Given the description of an element on the screen output the (x, y) to click on. 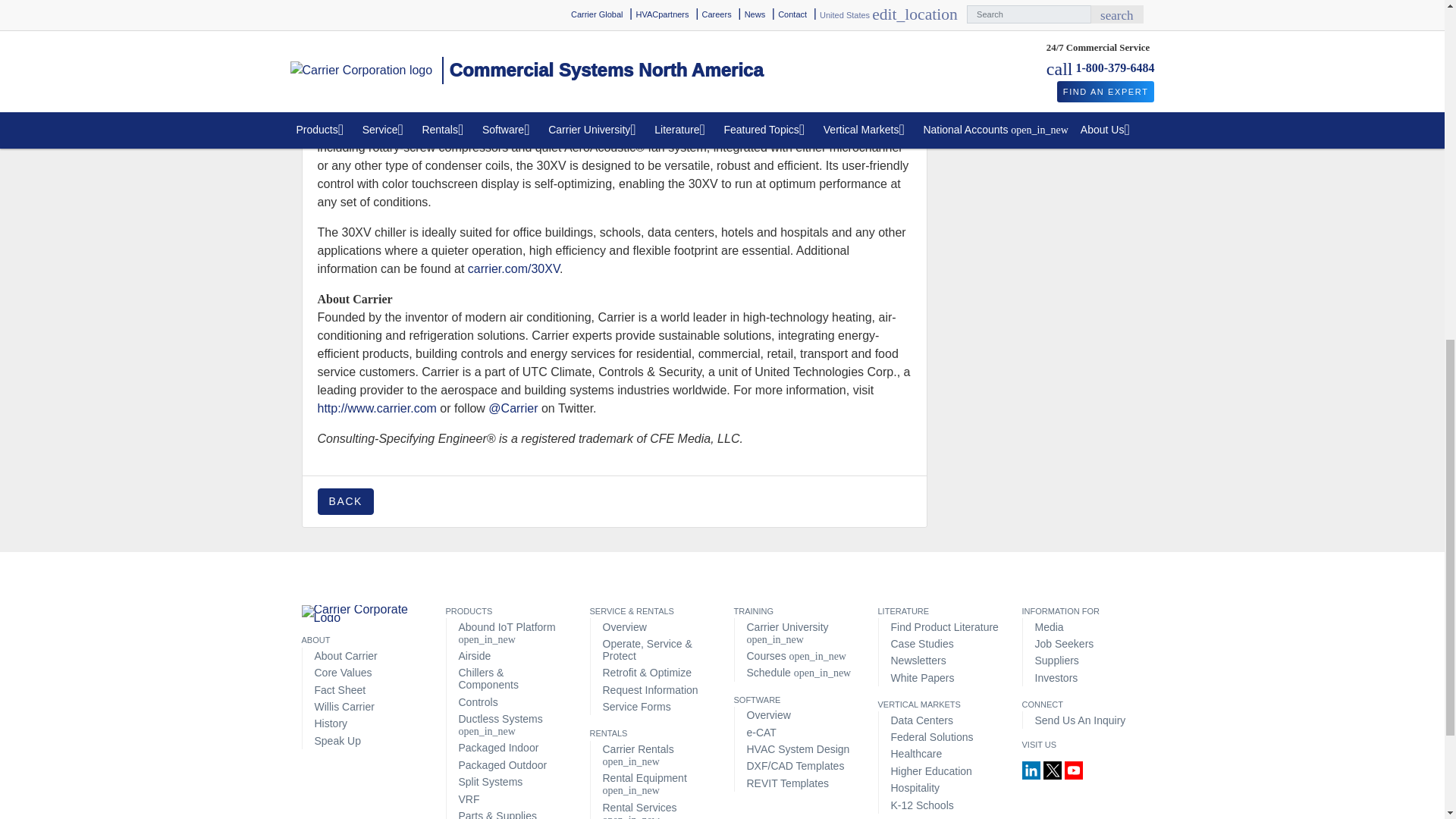
LinkedIn (1031, 770)
Twitter (1053, 768)
LinkedIn (1032, 768)
YouTube (1073, 768)
